Given the description of an element on the screen output the (x, y) to click on. 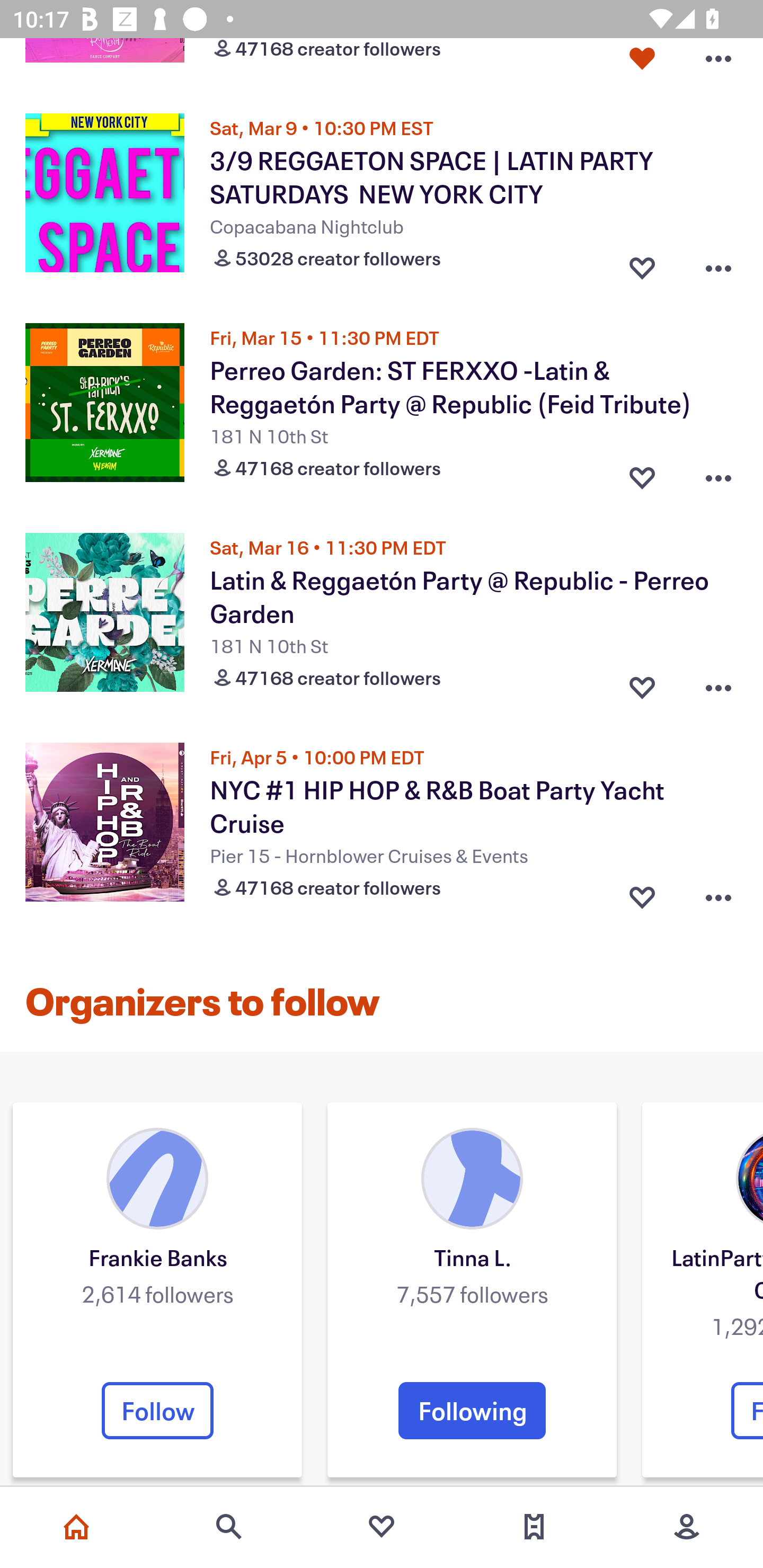
Favorite button (642, 62)
Overflow menu button (718, 62)
Favorite button (642, 263)
Overflow menu button (718, 263)
Favorite button (642, 474)
Overflow menu button (718, 474)
Favorite button (642, 683)
Overflow menu button (718, 683)
Favorite button (642, 892)
Overflow menu button (718, 892)
Follow Organizer's follow button (157, 1410)
Following Organizer's follow button (471, 1410)
Home (76, 1526)
Search events (228, 1526)
Favorites (381, 1526)
Tickets (533, 1526)
More (686, 1526)
